Given the description of an element on the screen output the (x, y) to click on. 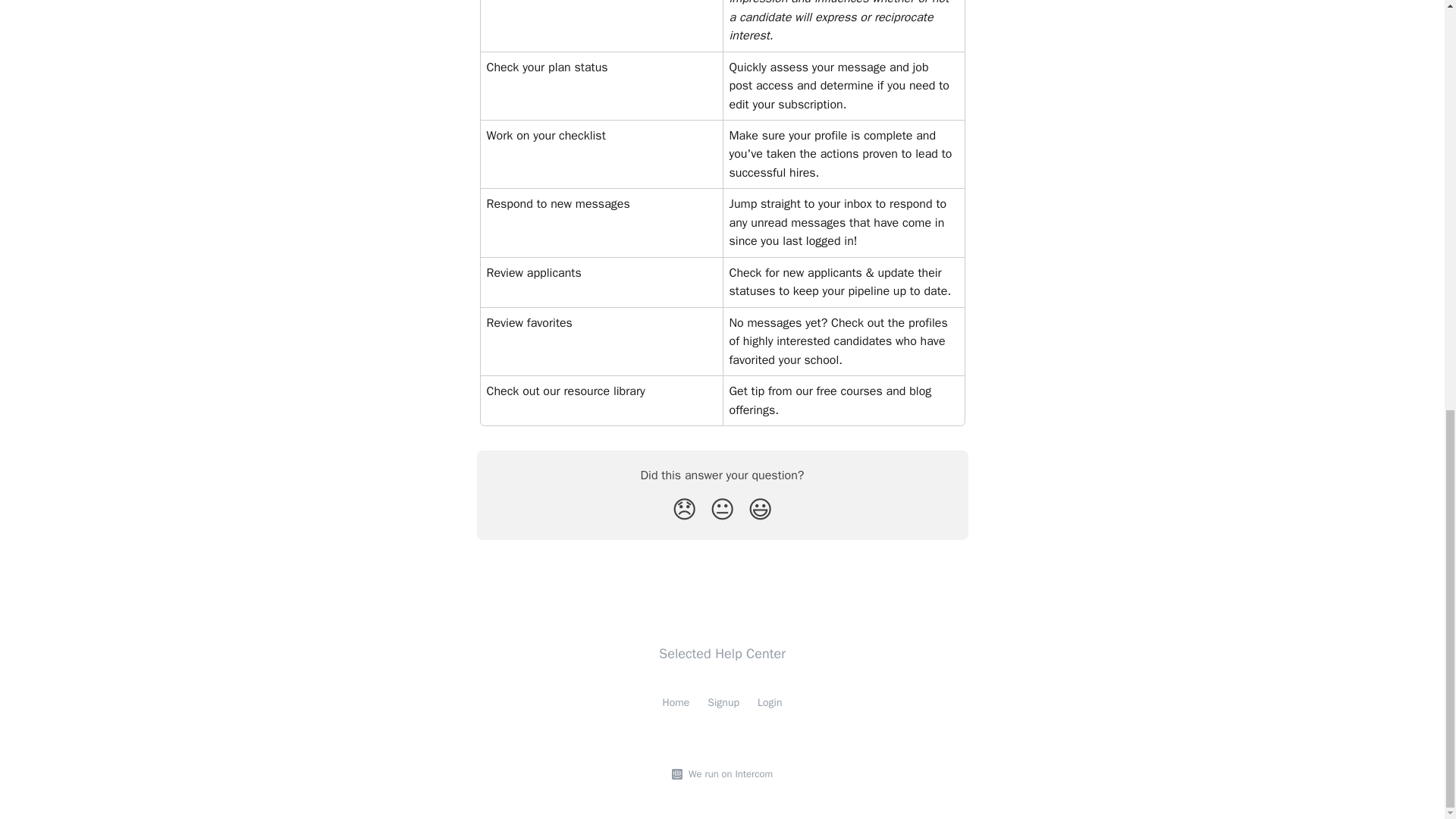
Home (676, 702)
We run on Intercom (727, 774)
Selected Help Center (722, 653)
Signup (723, 702)
Login (769, 702)
